Given the description of an element on the screen output the (x, y) to click on. 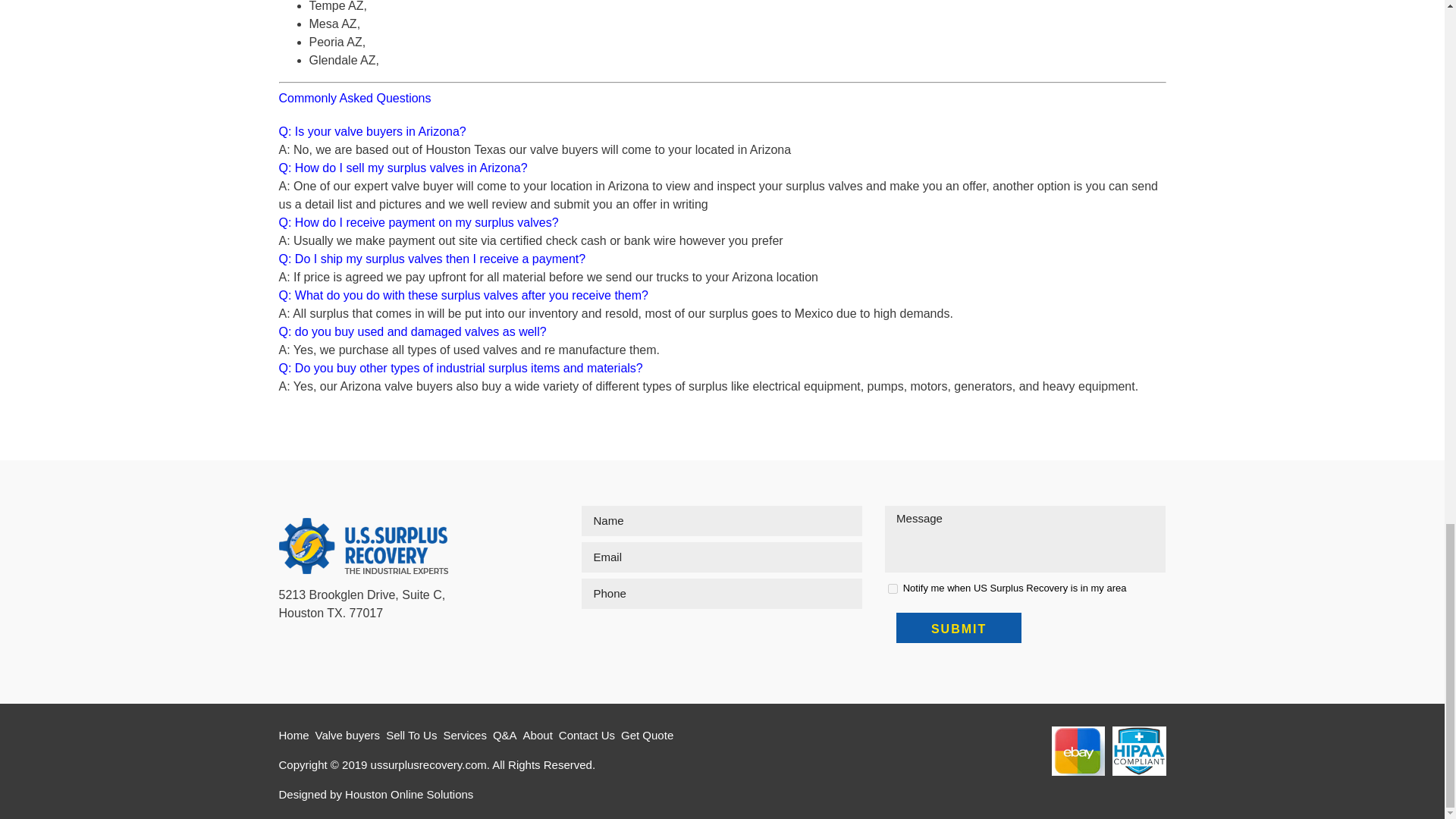
SUBMIT (959, 627)
SUBMIT (959, 627)
Sell To Us (413, 734)
Valve buyers (351, 734)
Home (297, 734)
Notify me when US Surplus Recovery is in my area (893, 588)
Contact Us (590, 734)
About (540, 734)
Services (467, 734)
Designed by Houston Online Solutions (376, 793)
Get Quote (650, 734)
